Given the description of an element on the screen output the (x, y) to click on. 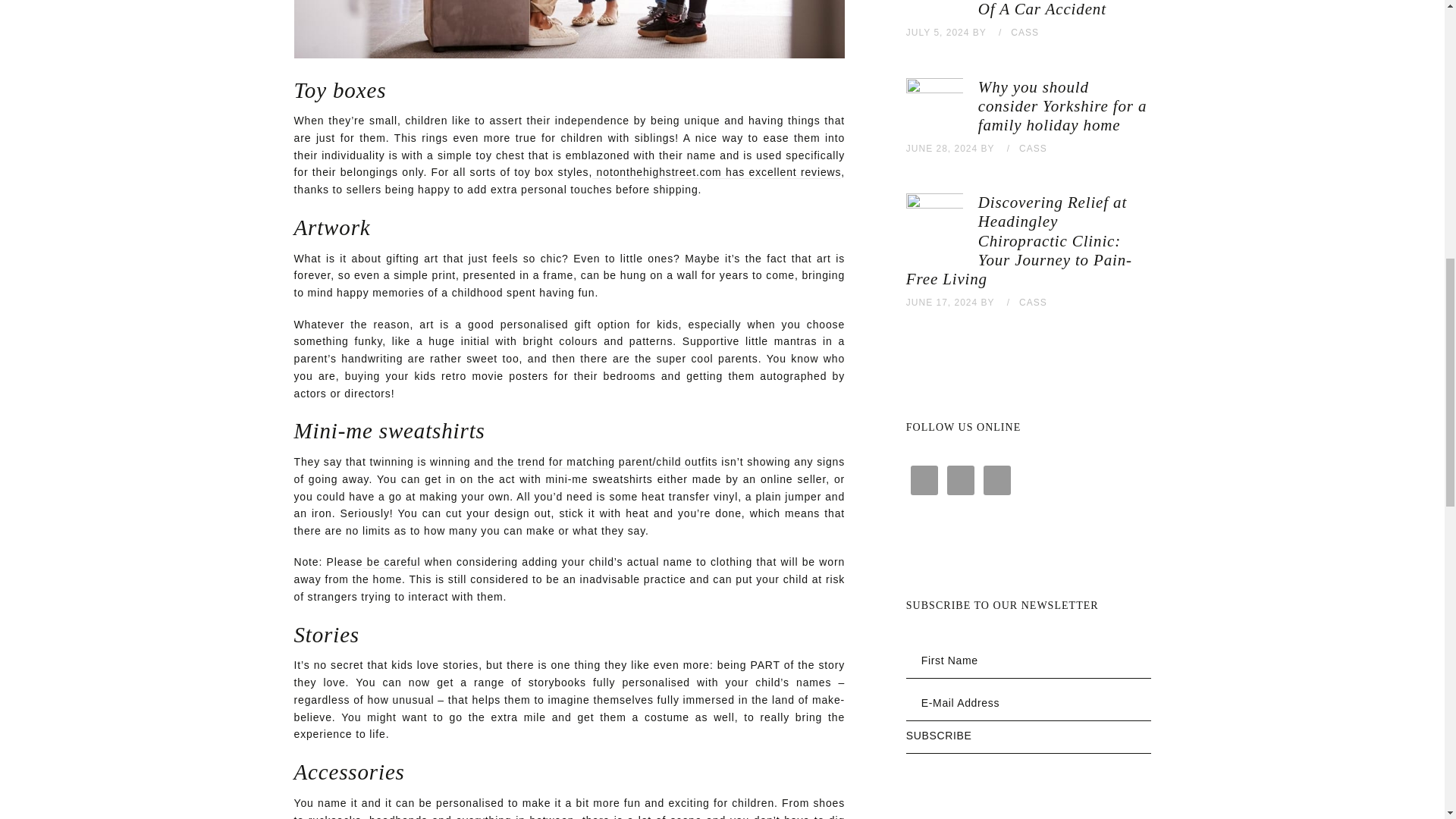
Subscribe (1028, 740)
be careful (391, 562)
CASS (1024, 32)
Why you should consider Yorkshire for a family holiday home (1062, 105)
notonthehighstreet.com has excellent reviews (716, 172)
CASS (1032, 302)
CASS (1032, 148)
